Given the description of an element on the screen output the (x, y) to click on. 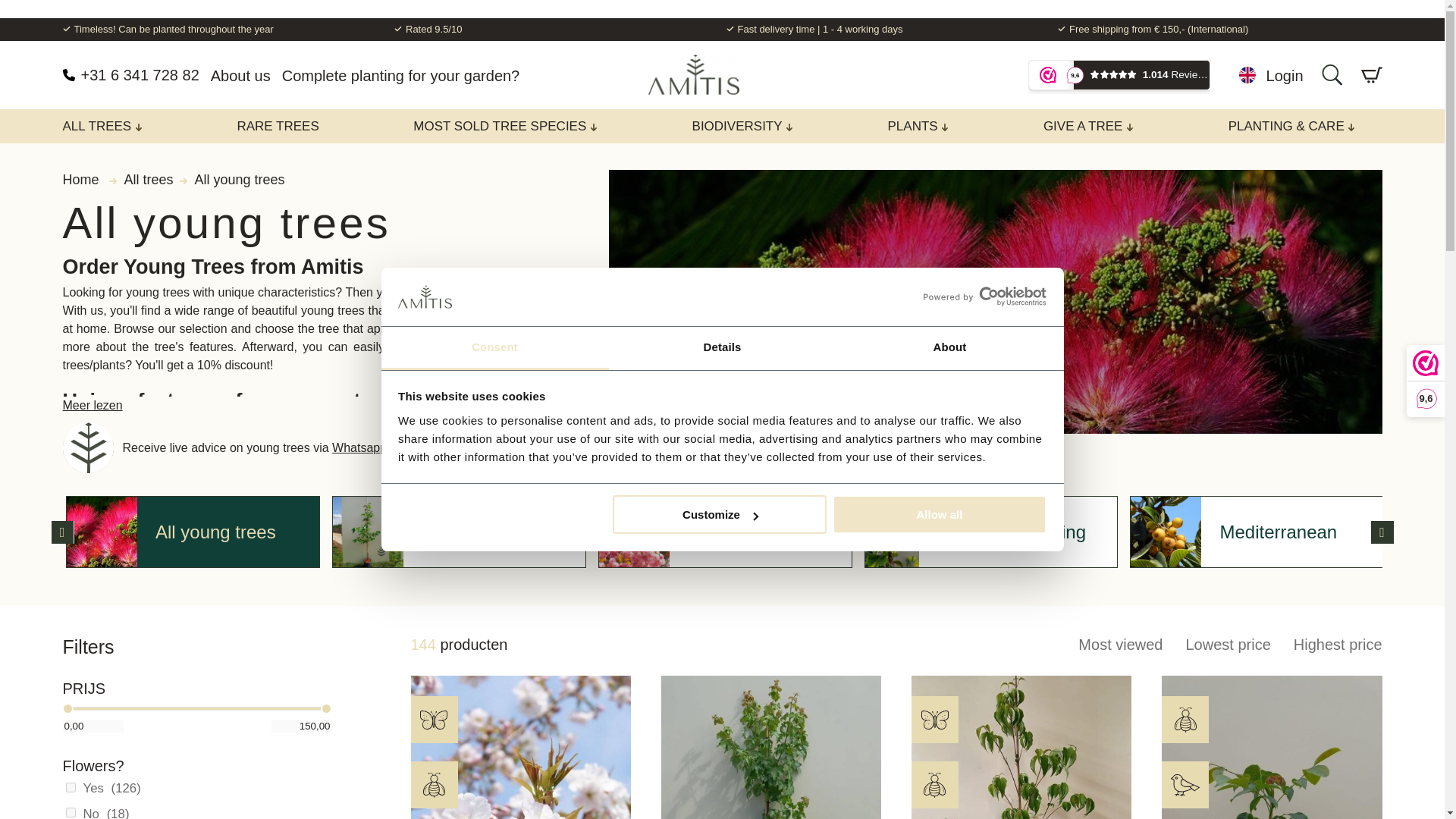
714904 (70, 812)
0,00 (92, 725)
Consent (494, 348)
714903 (70, 787)
WebwinkelKeur (1118, 75)
150,00 (300, 725)
Details (721, 348)
About (948, 348)
